Given the description of an element on the screen output the (x, y) to click on. 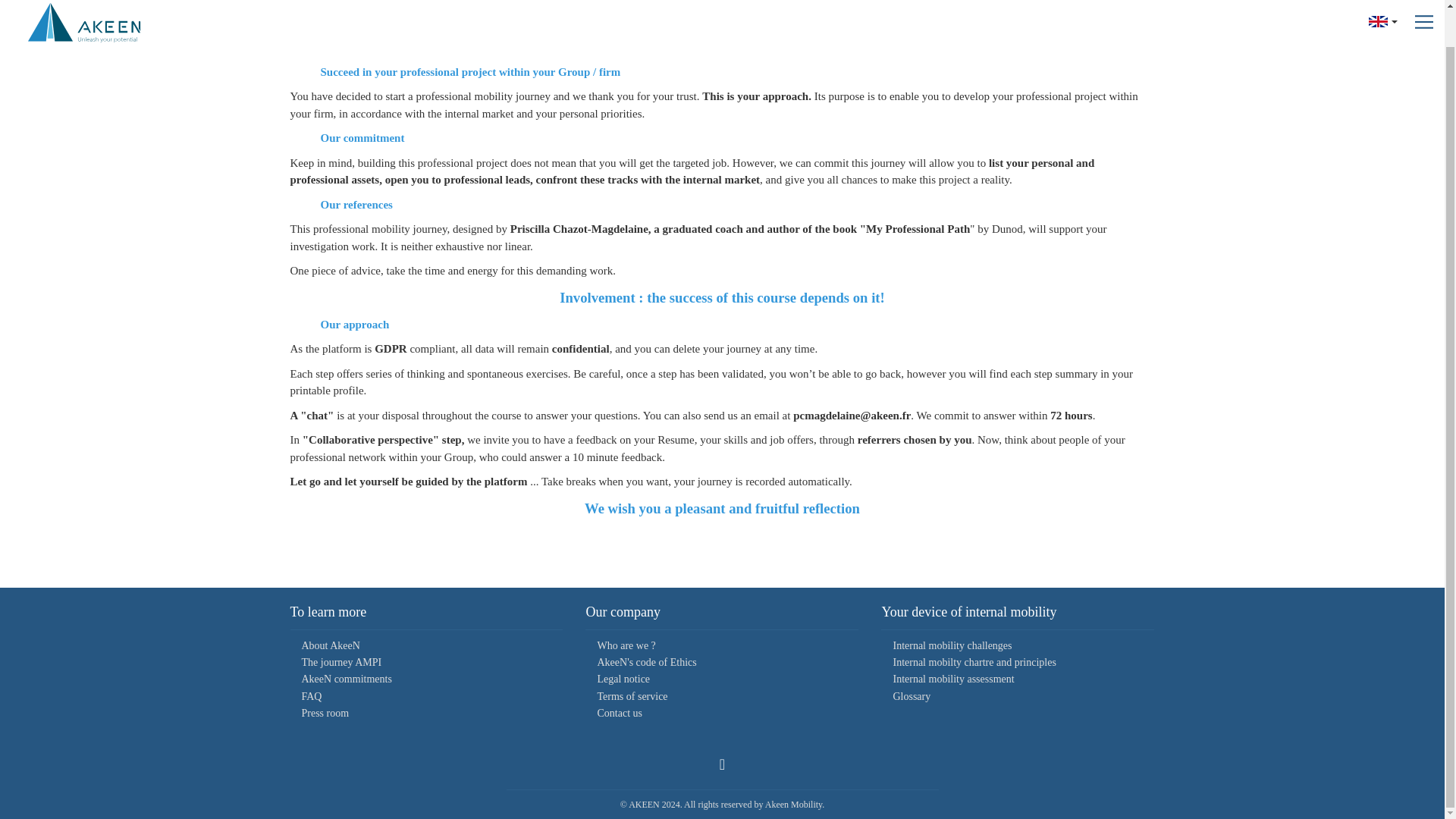
AkeeN commitments (346, 678)
About AkeeN (330, 645)
Glossary (911, 696)
Contact us (619, 713)
Internal mobilty chartre and principles (973, 662)
AkeeN's code of Ethics (645, 662)
Internal mobility assessment (952, 678)
Legal notice (622, 678)
Internal mobility challenges (951, 645)
The journey AMPI (341, 662)
FAQ (311, 696)
Linkedin (722, 764)
Terms of service (631, 696)
Press room (325, 713)
Who are we ? (625, 645)
